Given the description of an element on the screen output the (x, y) to click on. 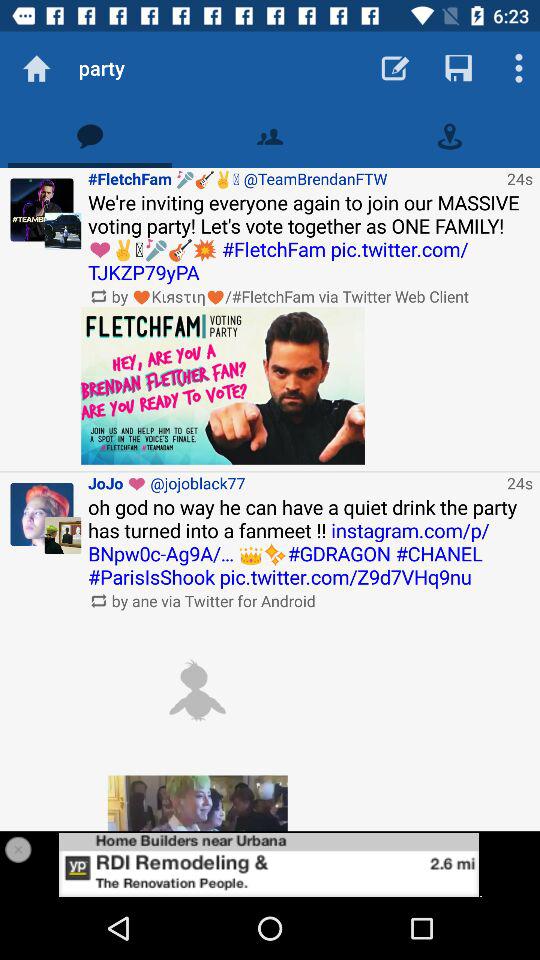
open the item above by ane via item (310, 541)
